Given the description of an element on the screen output the (x, y) to click on. 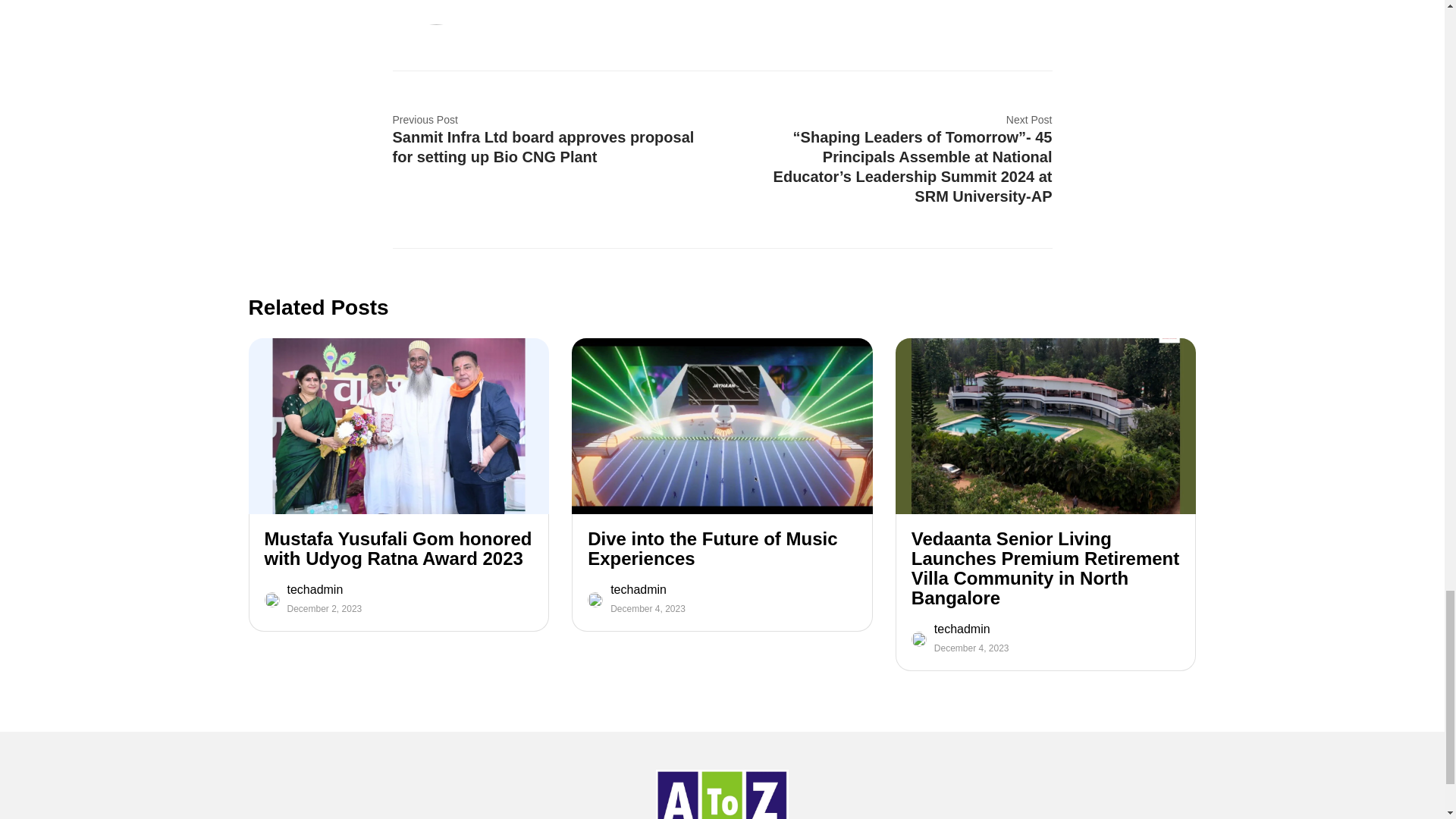
Mustafa Yusufali Gom honored with Udyog Ratna Award 2023 (397, 548)
techadmin (323, 589)
techadmin (971, 629)
Dive into the Future of Music Experiences (722, 548)
techadmin (647, 589)
